Given the description of an element on the screen output the (x, y) to click on. 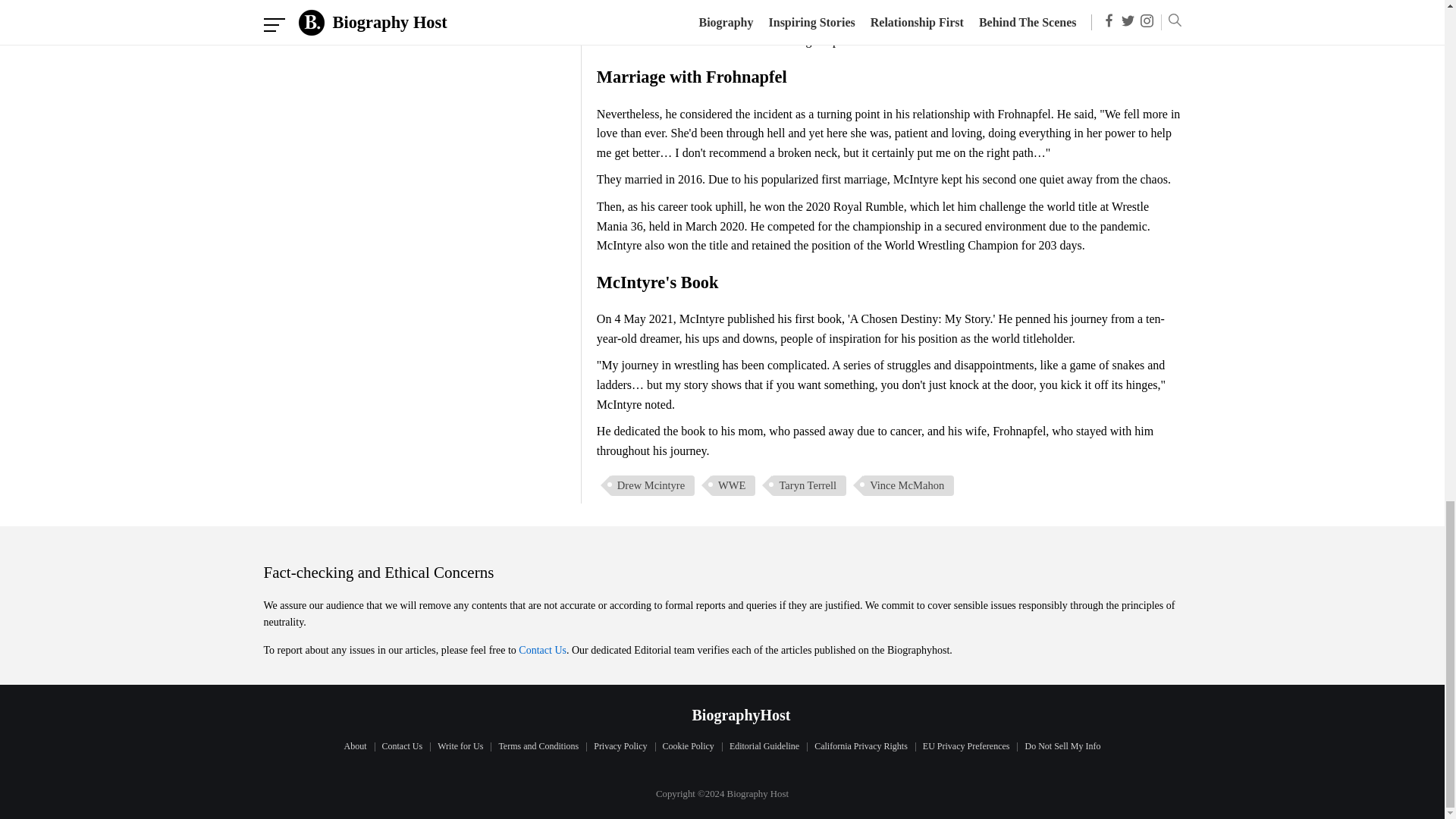
WWE (732, 485)
Taryn Terrell (808, 485)
Vince McMahon (907, 485)
Drew Mcintyre (652, 485)
Contact Us (542, 650)
